Given the description of an element on the screen output the (x, y) to click on. 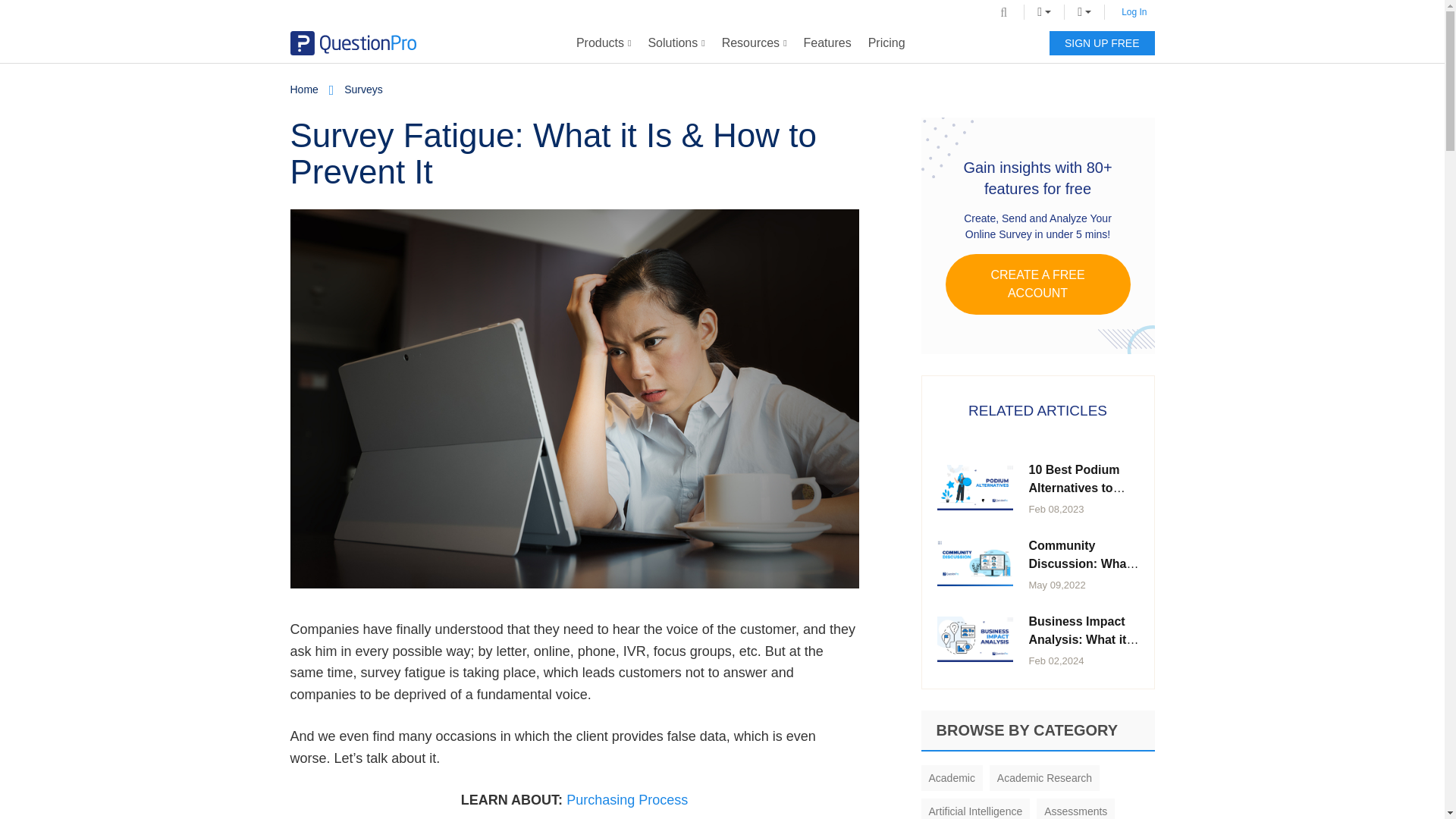
Resources (753, 42)
Solutions (676, 42)
Pricing (887, 42)
LiveChat chat widget (1393, 787)
Features (827, 42)
Products (603, 42)
